Given the description of an element on the screen output the (x, y) to click on. 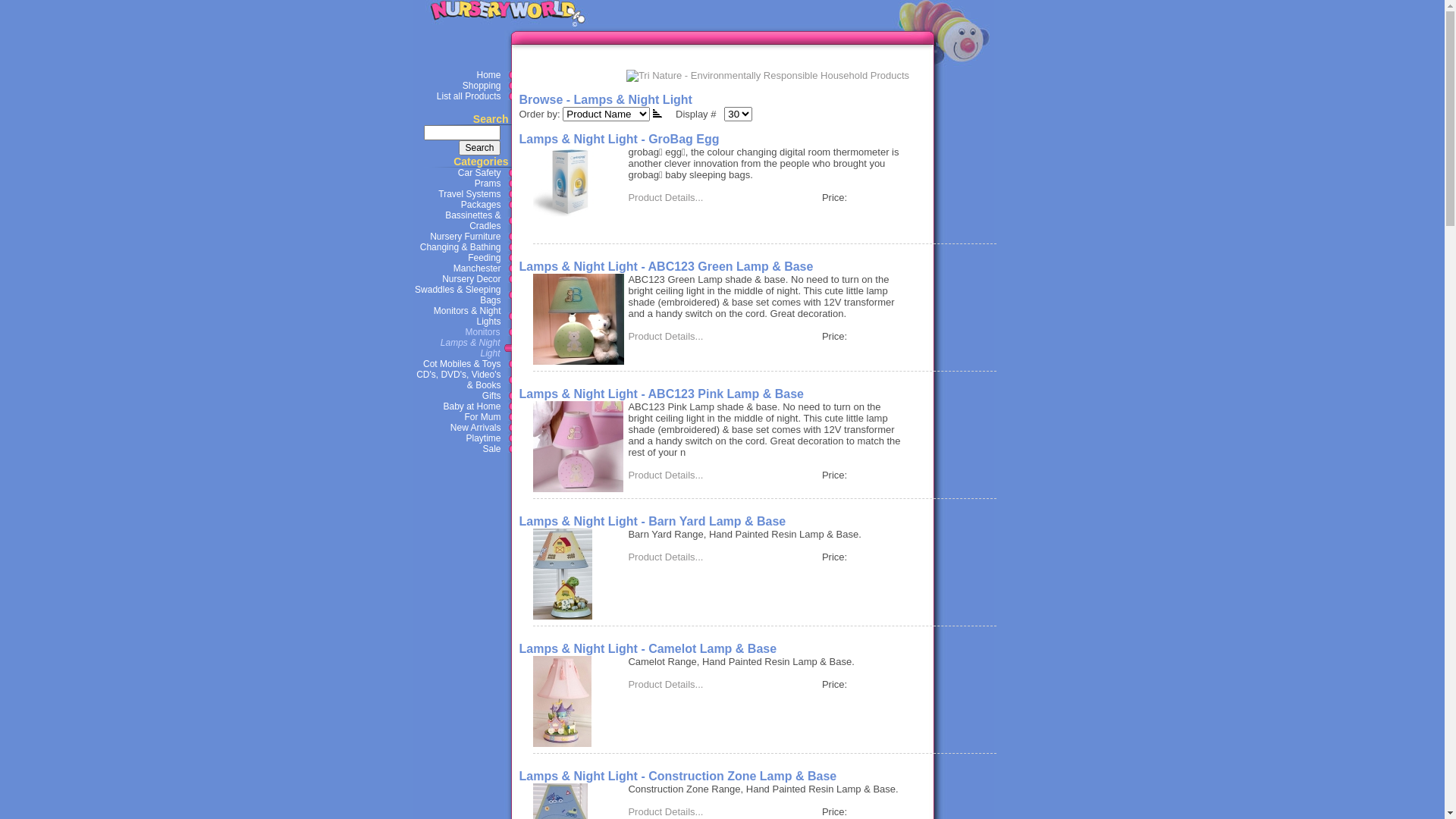
Sale Element type: text (461, 448)
Prams Element type: text (461, 183)
Search Element type: hover (461, 132)
Lamps & Night Light - Camelot Lamp & Base Element type: text (647, 648)
CD's, DVD's, Video's & Books Element type: text (461, 379)
   Lamps & Night Light Element type: text (461, 347)
Monitors & Night Lights Element type: text (461, 315)
Playtime Element type: text (461, 438)
Lamps & Night Light - Barn Yard Lamp & Base Element type: text (651, 520)
Feeding Element type: text (461, 257)
Lamps & Night Light - Construction Zone Lamp & Base Element type: text (677, 775)
Bassinettes & Cradles Element type: text (461, 220)
For Mum Element type: text (461, 416)
Changing & Bathing Element type: text (461, 246)
Product Details... Element type: text (664, 811)
Cot Mobiles & Toys Element type: text (461, 363)
   Monitors Element type: text (461, 331)
Search Element type: text (478, 147)
New Arrivals Element type: text (461, 427)
Product Details... Element type: text (664, 336)
List all Products Element type: text (461, 96)
Lamps & Night Light - GroBag Egg Element type: text (618, 138)
Product Details... Element type: text (664, 684)
Product Details... Element type: text (664, 197)
Lamps & Night Light - ABC123 Pink Lamp & Base Element type: text (660, 393)
Car Safety Element type: text (461, 172)
Travel Systems Element type: text (461, 193)
Gifts Element type: text (461, 395)
Swaddles & Sleeping Bags Element type: text (461, 294)
Nursery Furniture Element type: text (461, 236)
Product Details... Element type: text (664, 474)
Baby at Home Element type: text (461, 406)
Lamps & Night Light - ABC123 Green Lamp & Base Element type: text (665, 266)
Packages Element type: text (461, 204)
Manchester Element type: text (461, 268)
Product Details... Element type: text (664, 556)
Descending order Element type: hover (657, 112)
Shopping Element type: text (461, 85)
Nursery Decor Element type: text (461, 278)
Home Element type: text (461, 74)
